Given the description of an element on the screen output the (x, y) to click on. 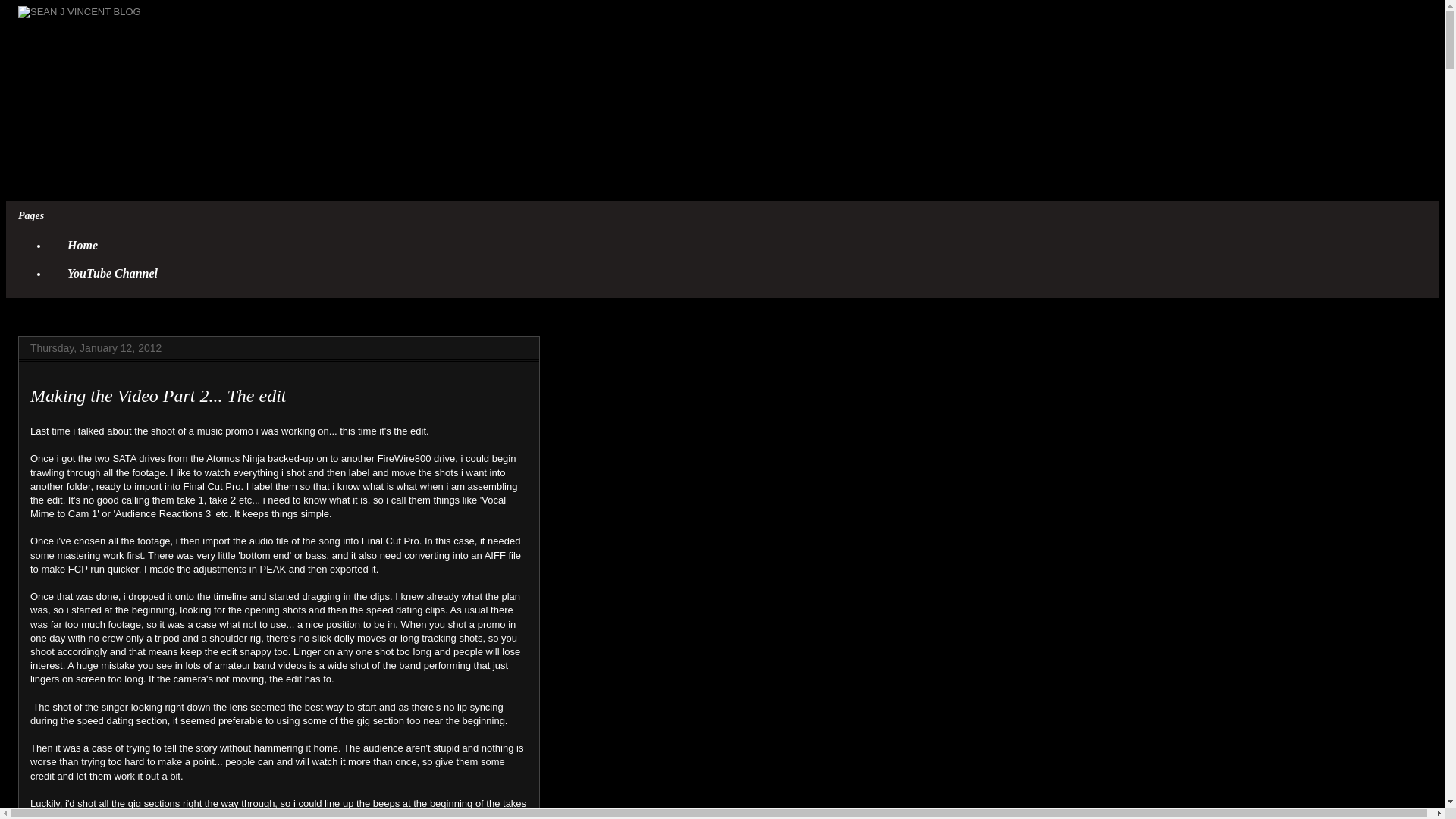
Home (82, 245)
YouTube Channel (112, 274)
